Given the description of an element on the screen output the (x, y) to click on. 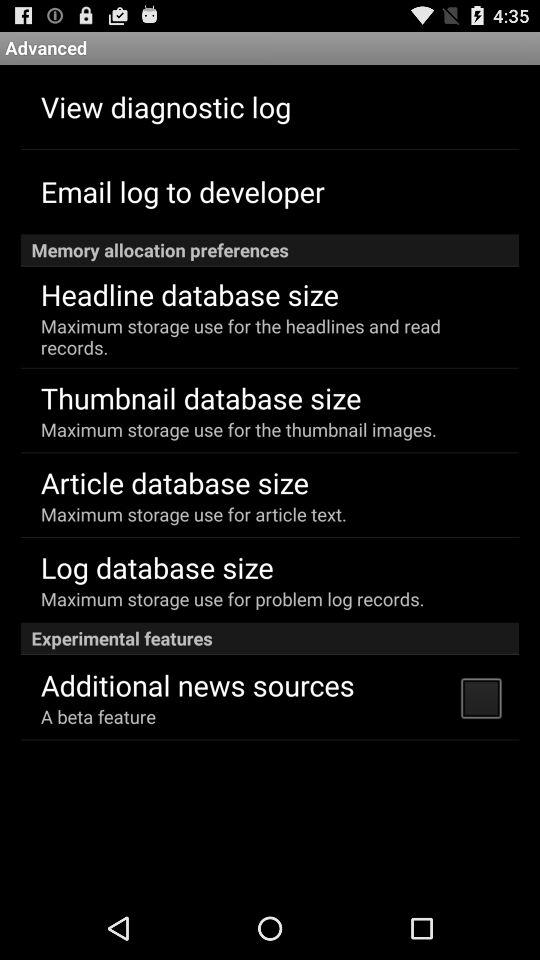
press the app below experimental features item (197, 684)
